Given the description of an element on the screen output the (x, y) to click on. 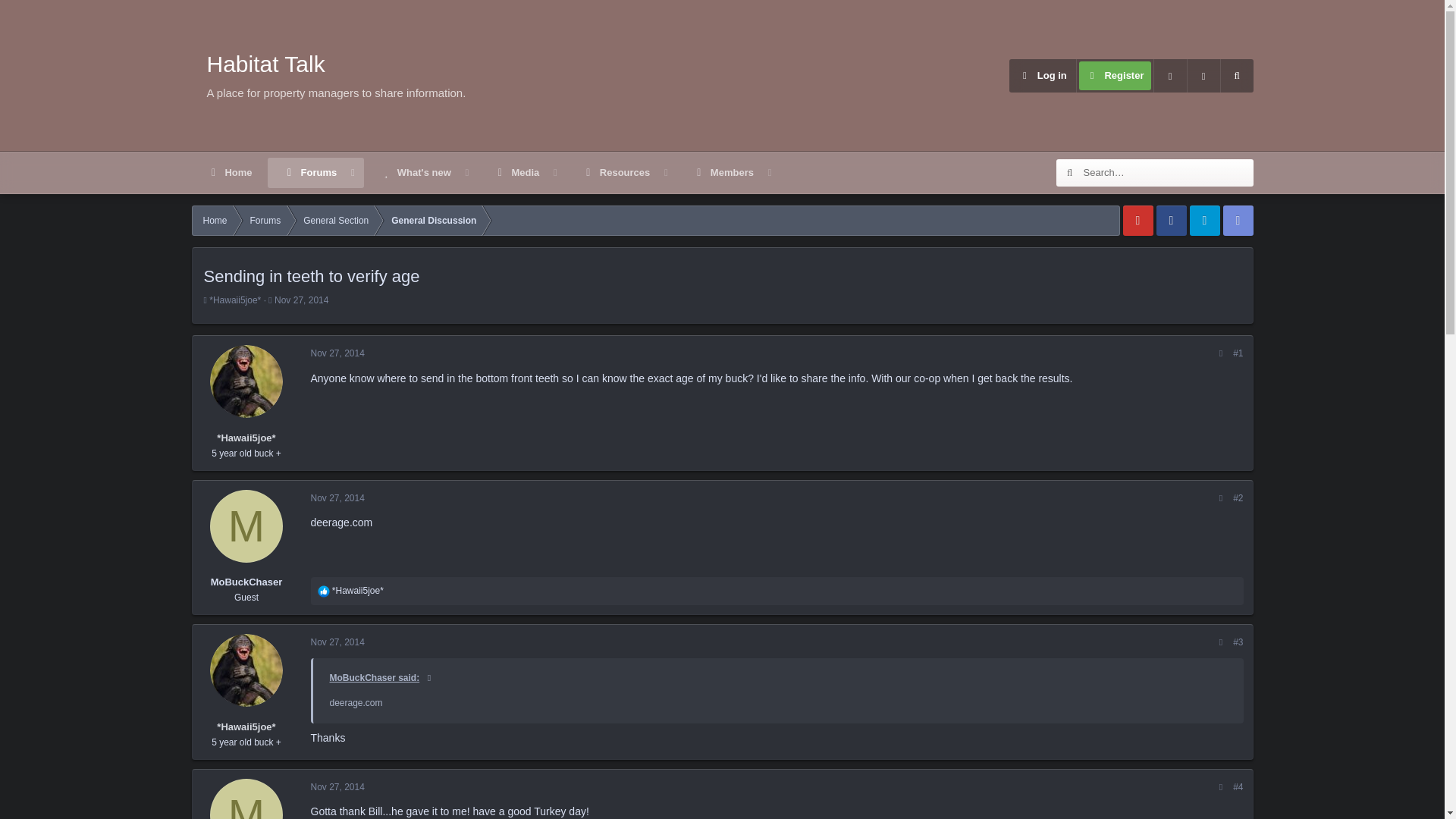
Nov 27, 2014 at 7:33 AM (338, 642)
Media (515, 173)
Log in (1042, 75)
Nov 27, 2014 at 7:27 AM (485, 173)
Resources (338, 353)
Nov 27, 2014 at 7:42 AM (615, 173)
Like (485, 189)
Forums (338, 787)
MoBuckChaser (323, 591)
Nov 27, 2014 at 7:27 AM (309, 173)
Register (245, 525)
